Given the description of an element on the screen output the (x, y) to click on. 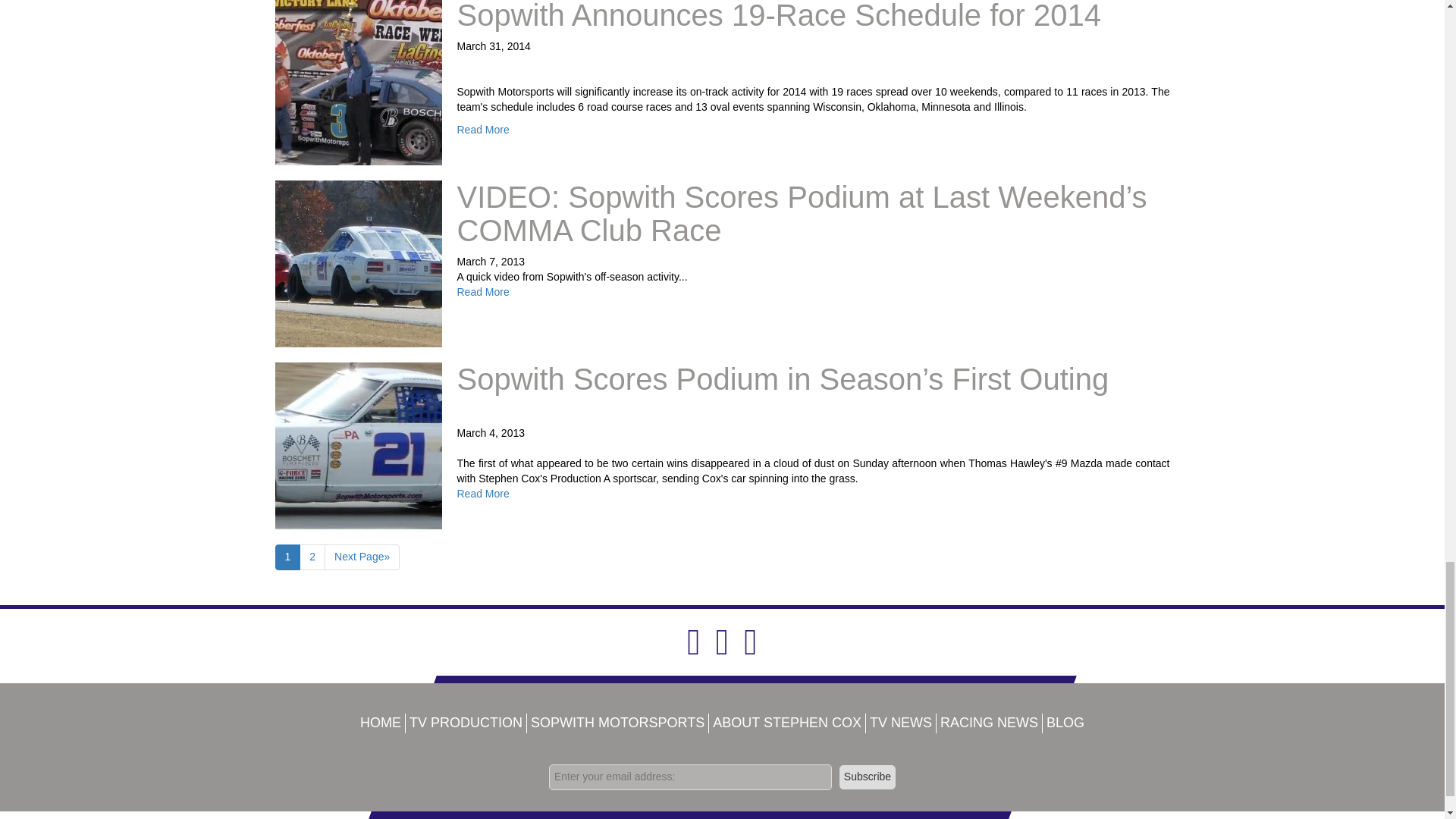
Sopwith Announces 19-Race Schedule for 2014 (778, 15)
Subscribe (867, 776)
